Given the description of an element on the screen output the (x, y) to click on. 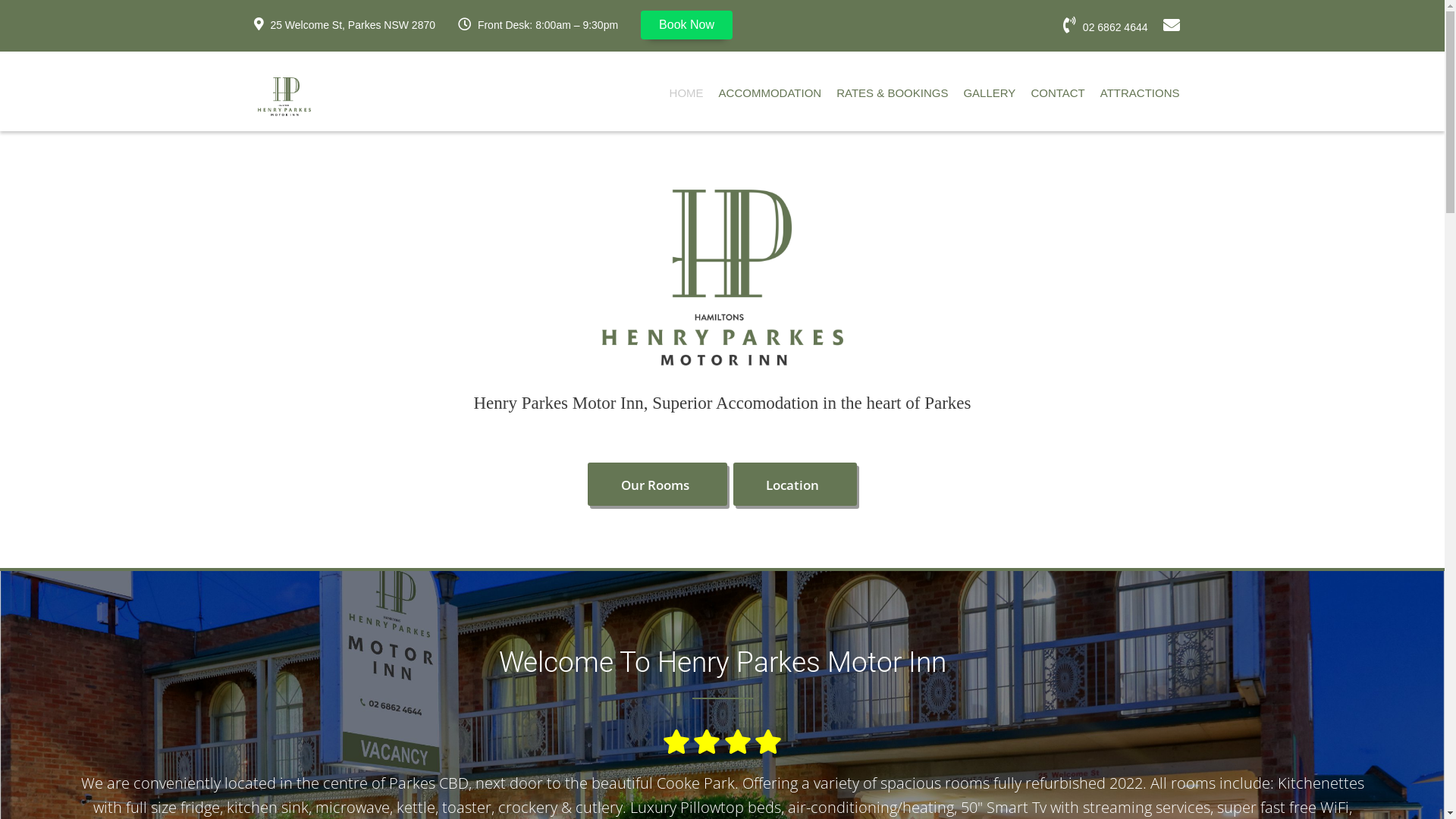
HOME Element type: text (686, 95)
ACCOMMODATION Element type: text (770, 95)
CONTACT Element type: text (1057, 95)
Our Rooms Element type: text (657, 483)
RATES & BOOKINGS Element type: text (891, 95)
Book Now Element type: text (686, 24)
Location Element type: text (794, 483)
ATTRACTIONS Element type: text (1139, 95)
GALLERY Element type: text (988, 95)
02 6862 4644 Element type: text (1105, 25)
